Given the description of an element on the screen output the (x, y) to click on. 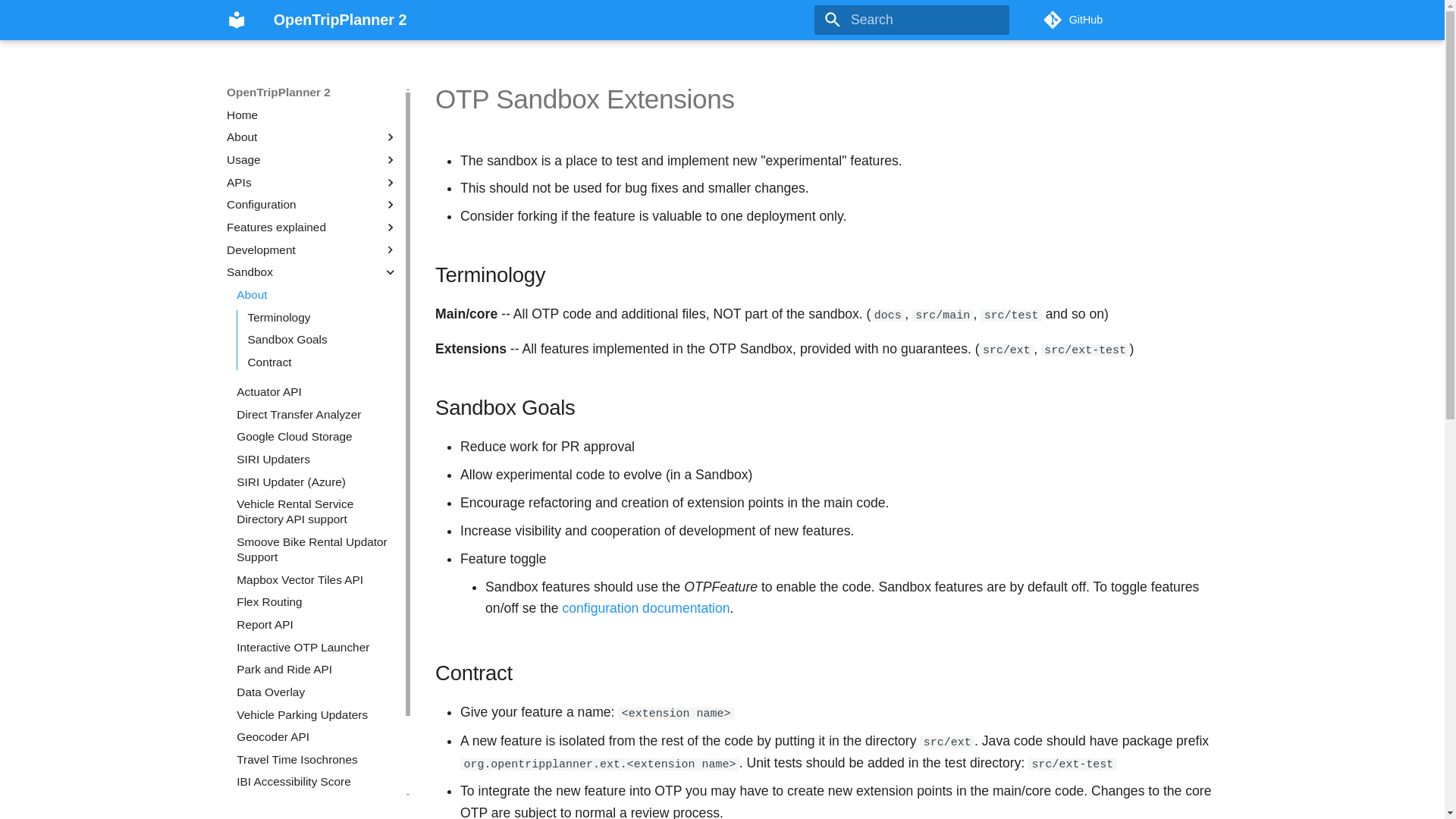
GitHub (1129, 20)
Go to repository (1129, 20)
OpenTripPlanner 2 (236, 19)
Home (312, 114)
